Given the description of an element on the screen output the (x, y) to click on. 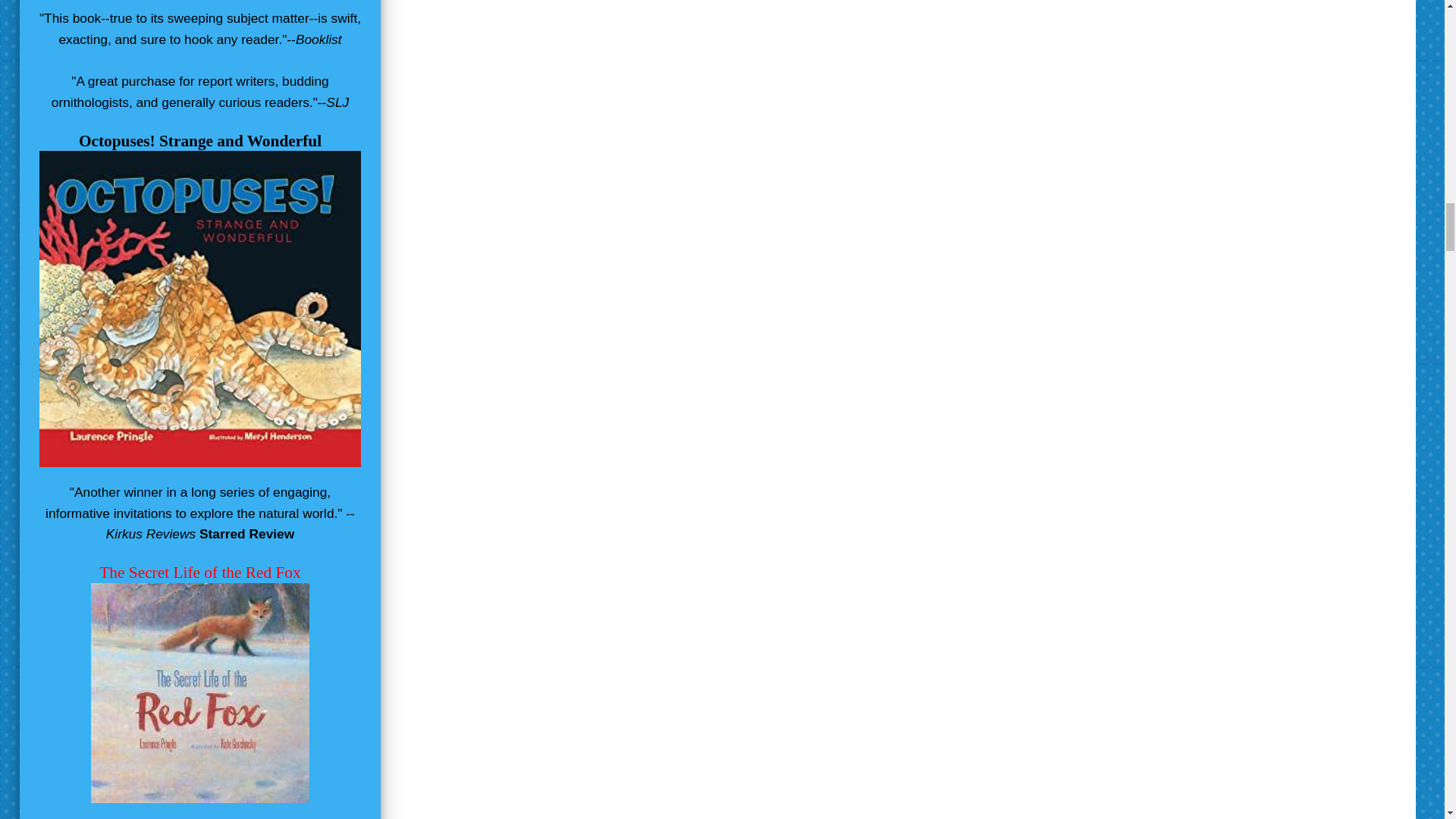
Octopuses! Strange and Wonderful (199, 140)
The Secret Life of the Red Fox (199, 572)
